Given the description of an element on the screen output the (x, y) to click on. 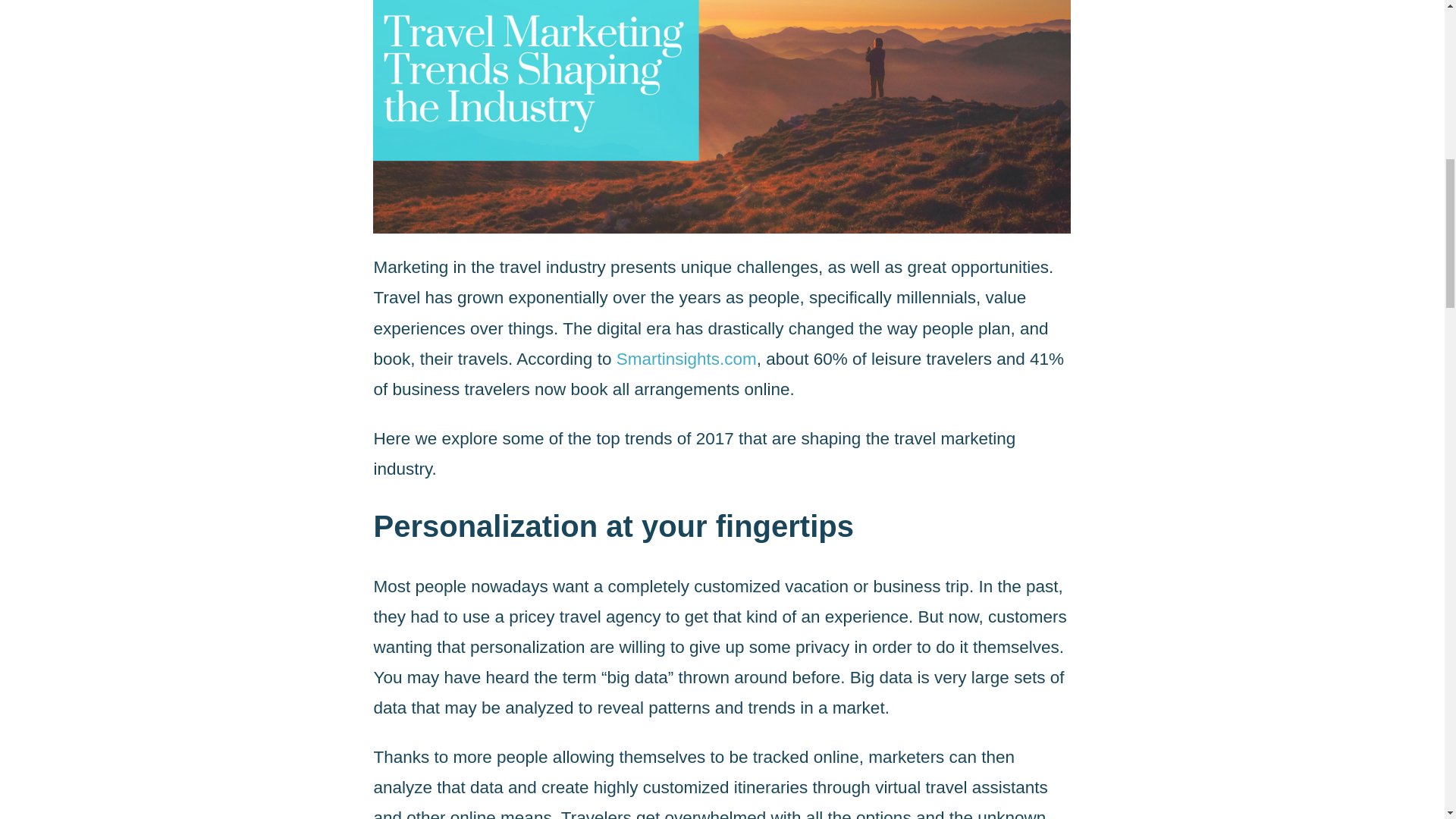
Smartinsights.com (686, 358)
